Given the description of an element on the screen output the (x, y) to click on. 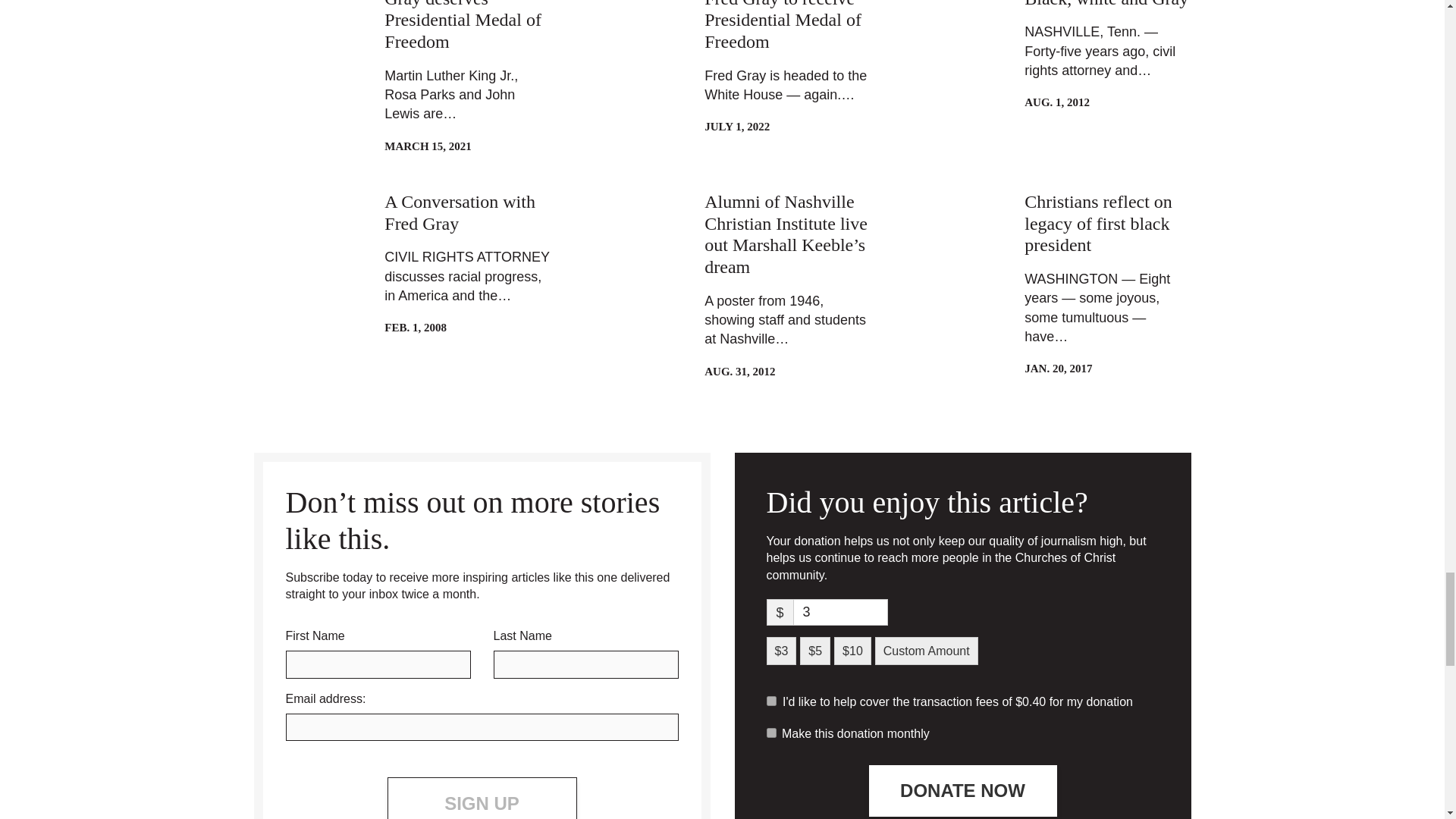
3 (840, 611)
1 (770, 700)
Sign up (481, 798)
on (770, 732)
